Given the description of an element on the screen output the (x, y) to click on. 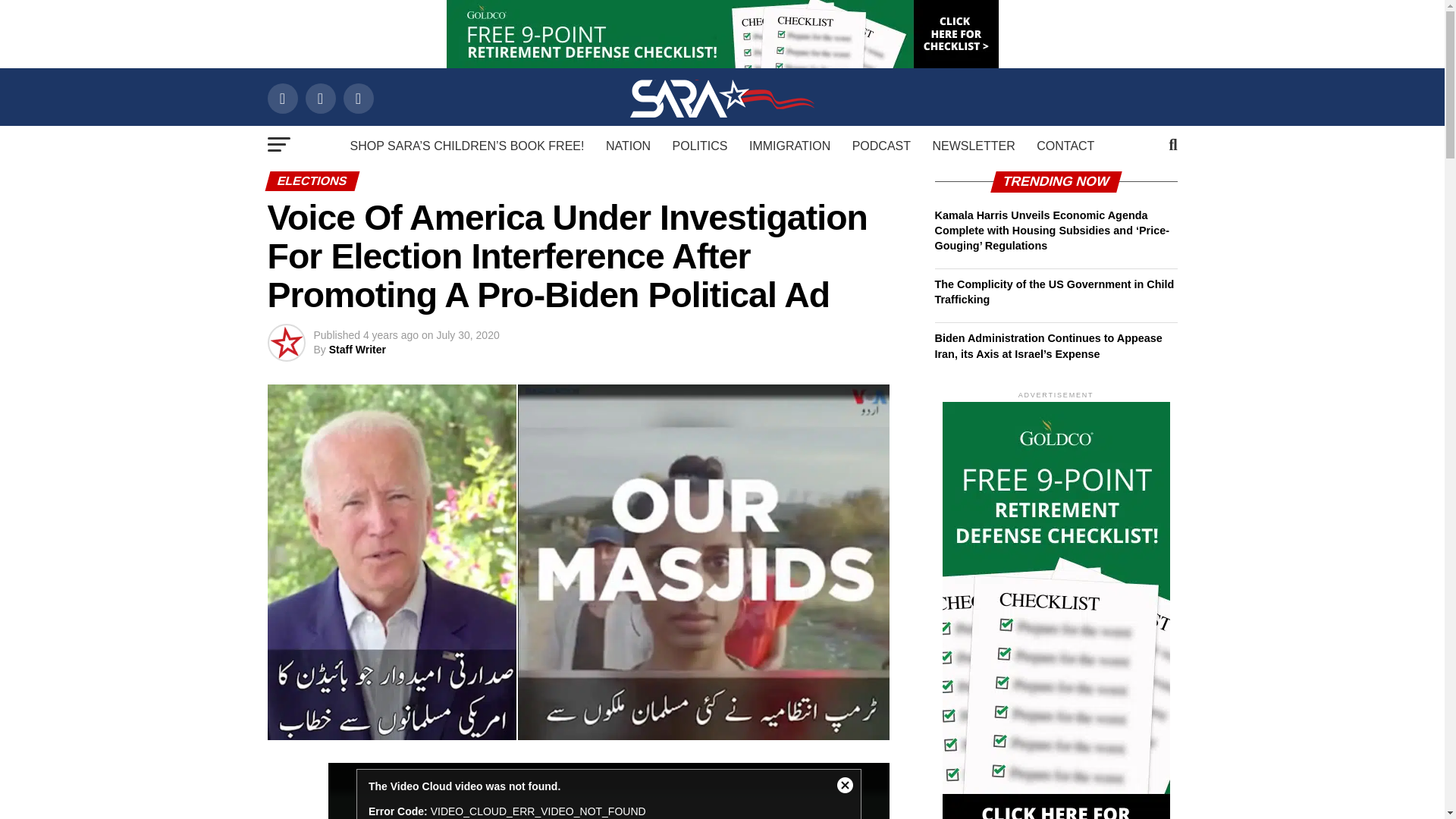
NEWSLETTER (973, 146)
Posts by Staff Writer (357, 349)
PODCAST (881, 146)
Staff Writer (357, 349)
IMMIGRATION (789, 146)
POLITICS (699, 146)
CONTACT (1065, 146)
NATION (627, 146)
